Given the description of an element on the screen output the (x, y) to click on. 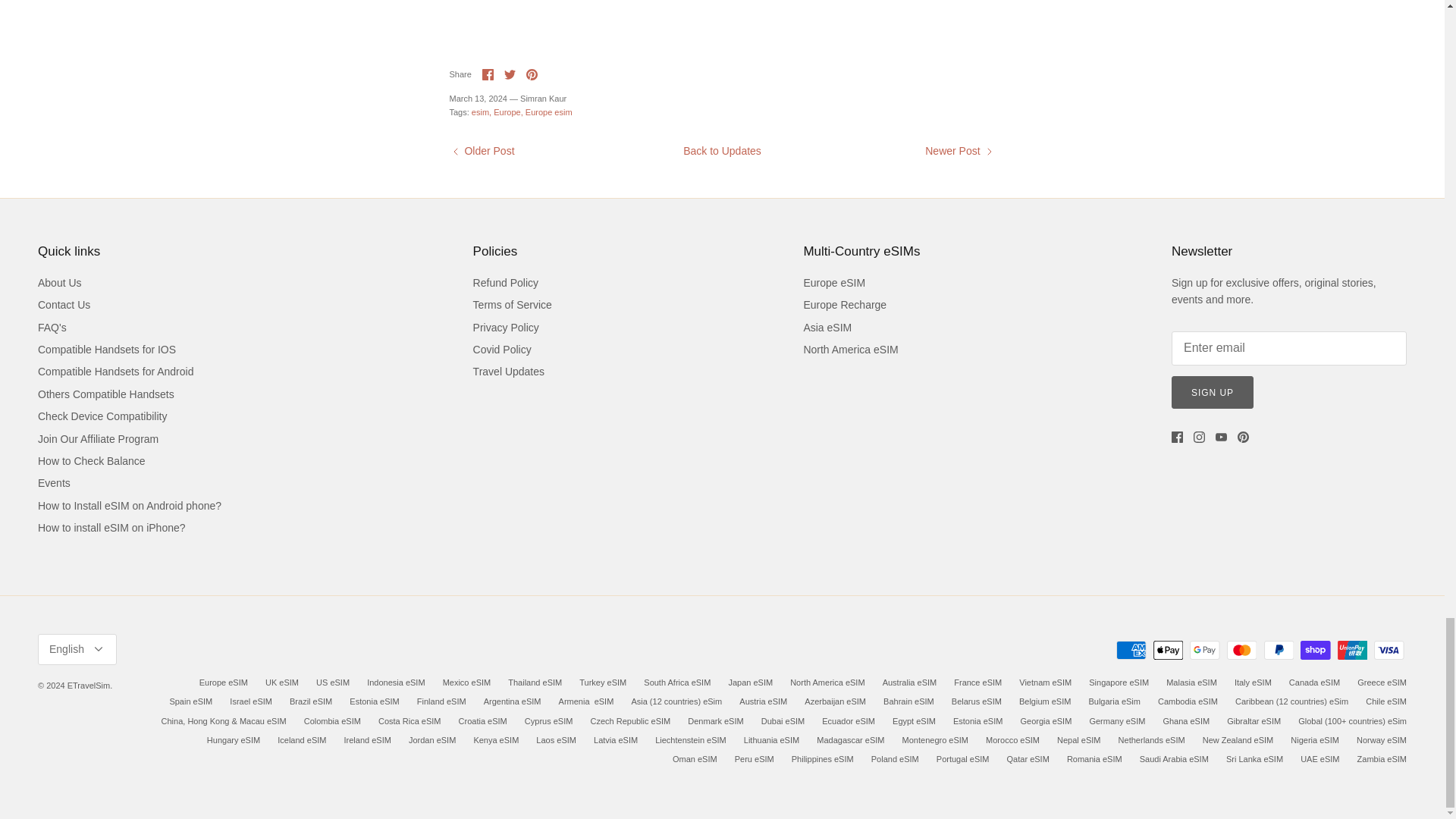
Show articles tagged Europe (507, 112)
Show articles tagged Europe esim (548, 112)
Show articles tagged esim (481, 112)
